Given the description of an element on the screen output the (x, y) to click on. 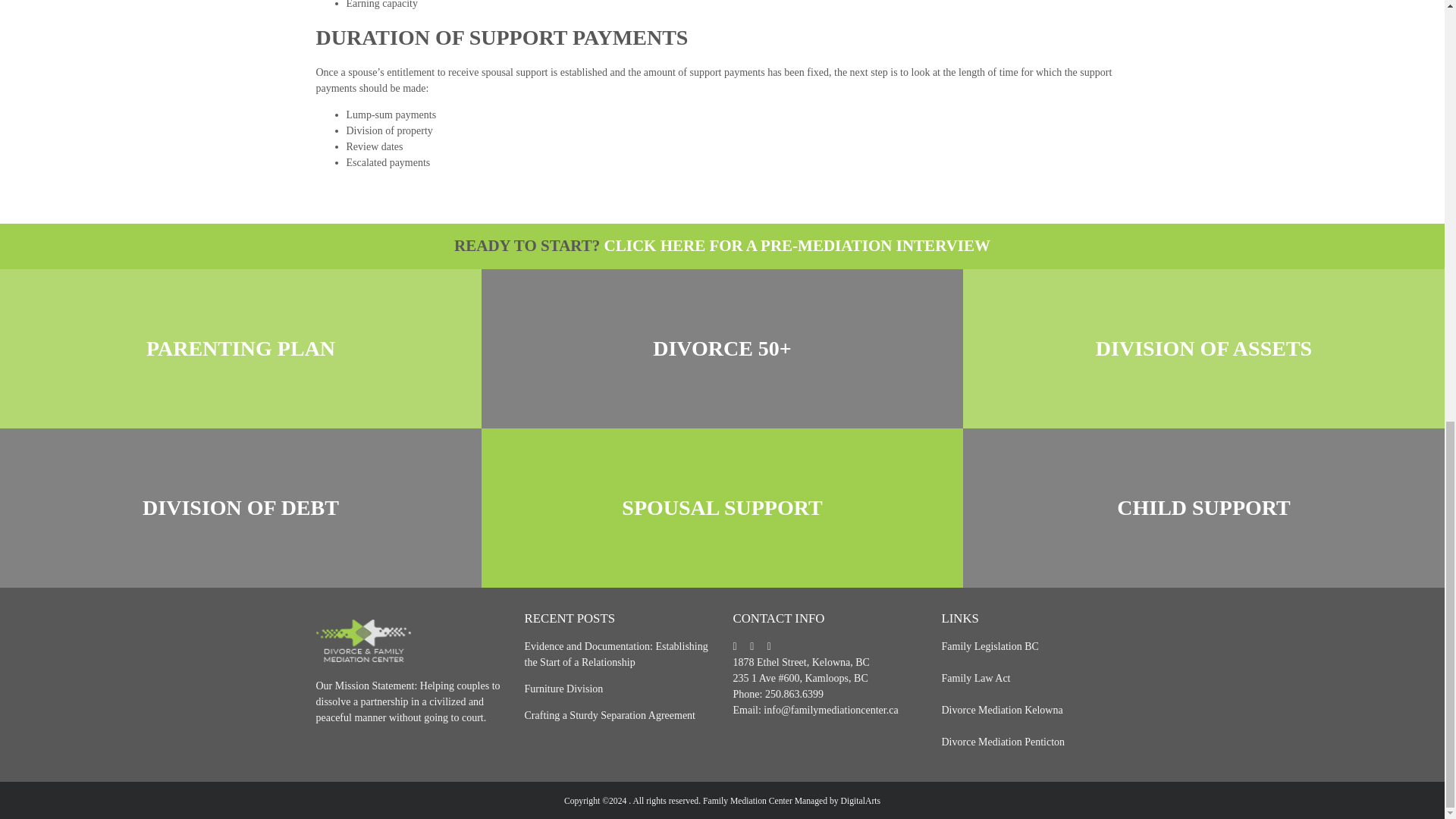
PARENTING PLAN (240, 348)
Managed by DigitalArts (791, 800)
SPOUSAL SUPPORT (721, 508)
CHILD SUPPORT (1203, 508)
DIVISION OF ASSETS (1203, 348)
DIVISION OF DEBT (240, 508)
CLICK HERE FOR A PRE-MEDIATION INTERVIEW (797, 245)
Family Mediation Center logo (362, 640)
